Given the description of an element on the screen output the (x, y) to click on. 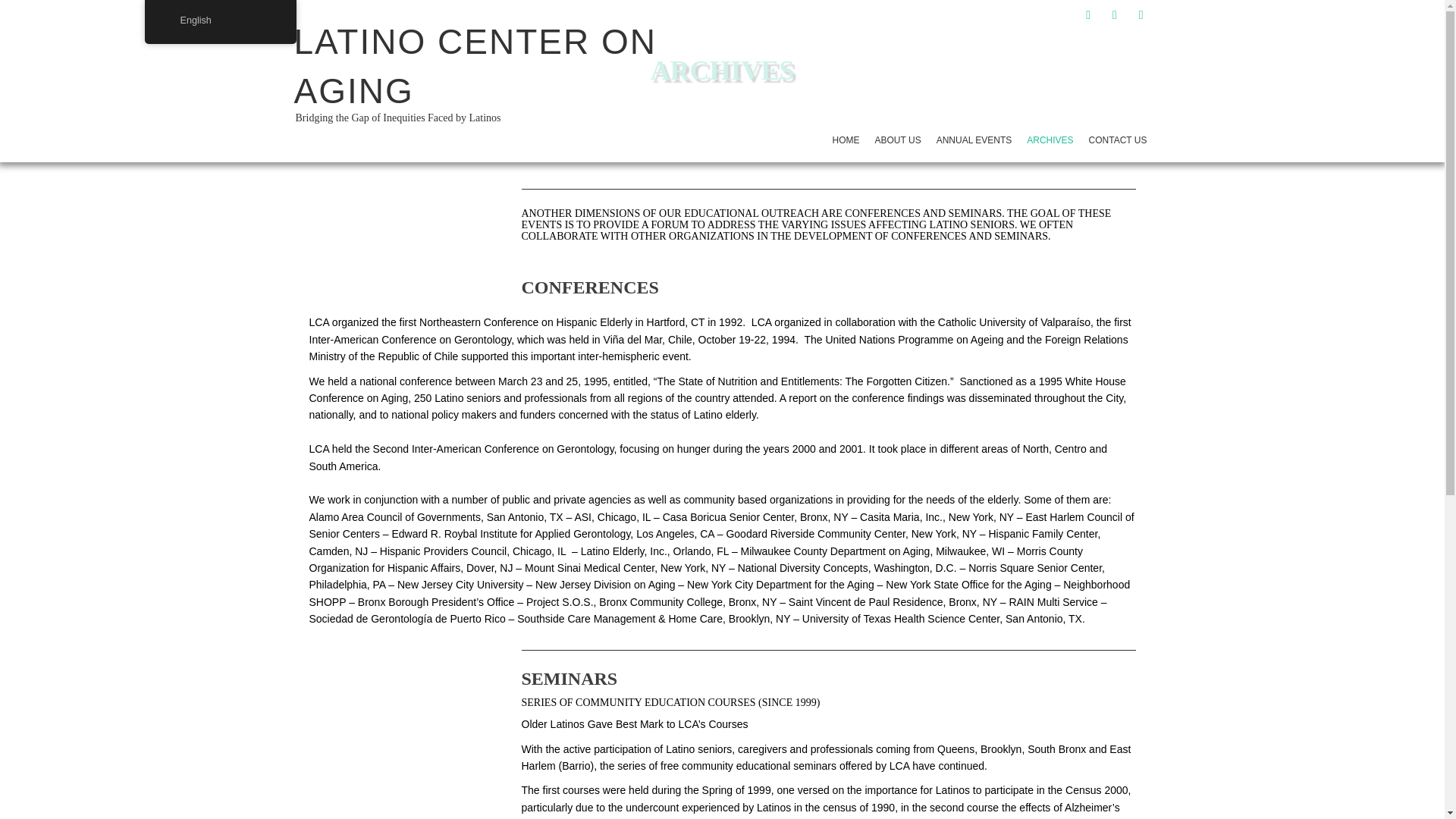
English (168, 20)
INSTAGRAM (1141, 14)
FACEBOOK (1087, 14)
ARCHIVES (721, 83)
ANNUAL EVENTS (974, 140)
CONTACT US (1117, 140)
English (219, 20)
TWITTER (1114, 14)
LATINO CENTER ON AGING (475, 66)
ABOUT US (897, 140)
